Given the description of an element on the screen output the (x, y) to click on. 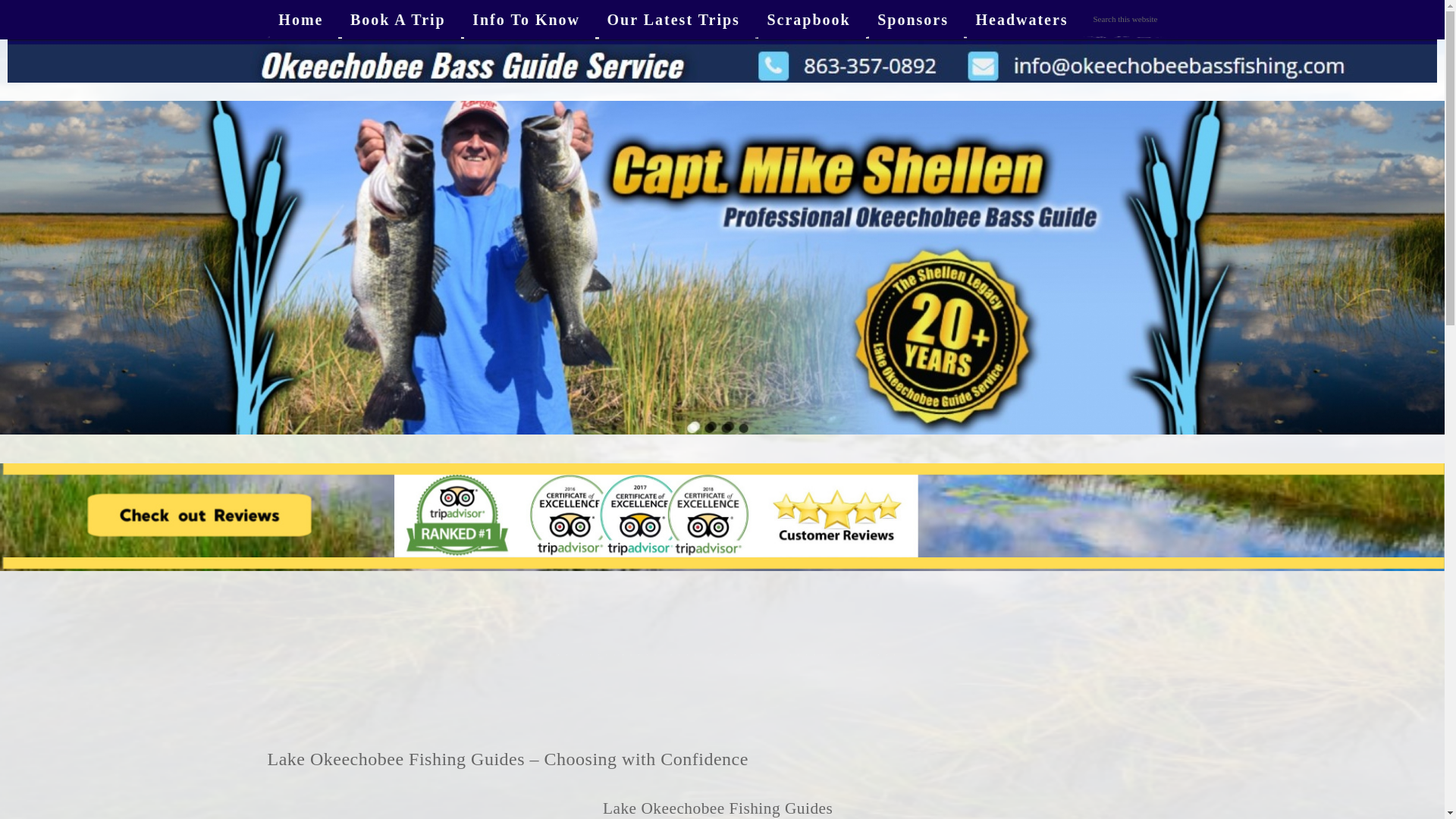
Home (303, 19)
Book a Trip (401, 19)
Info To Know (529, 19)
Scrapbook (811, 19)
Headwaters (1024, 19)
Sponsors (916, 19)
